Given the description of an element on the screen output the (x, y) to click on. 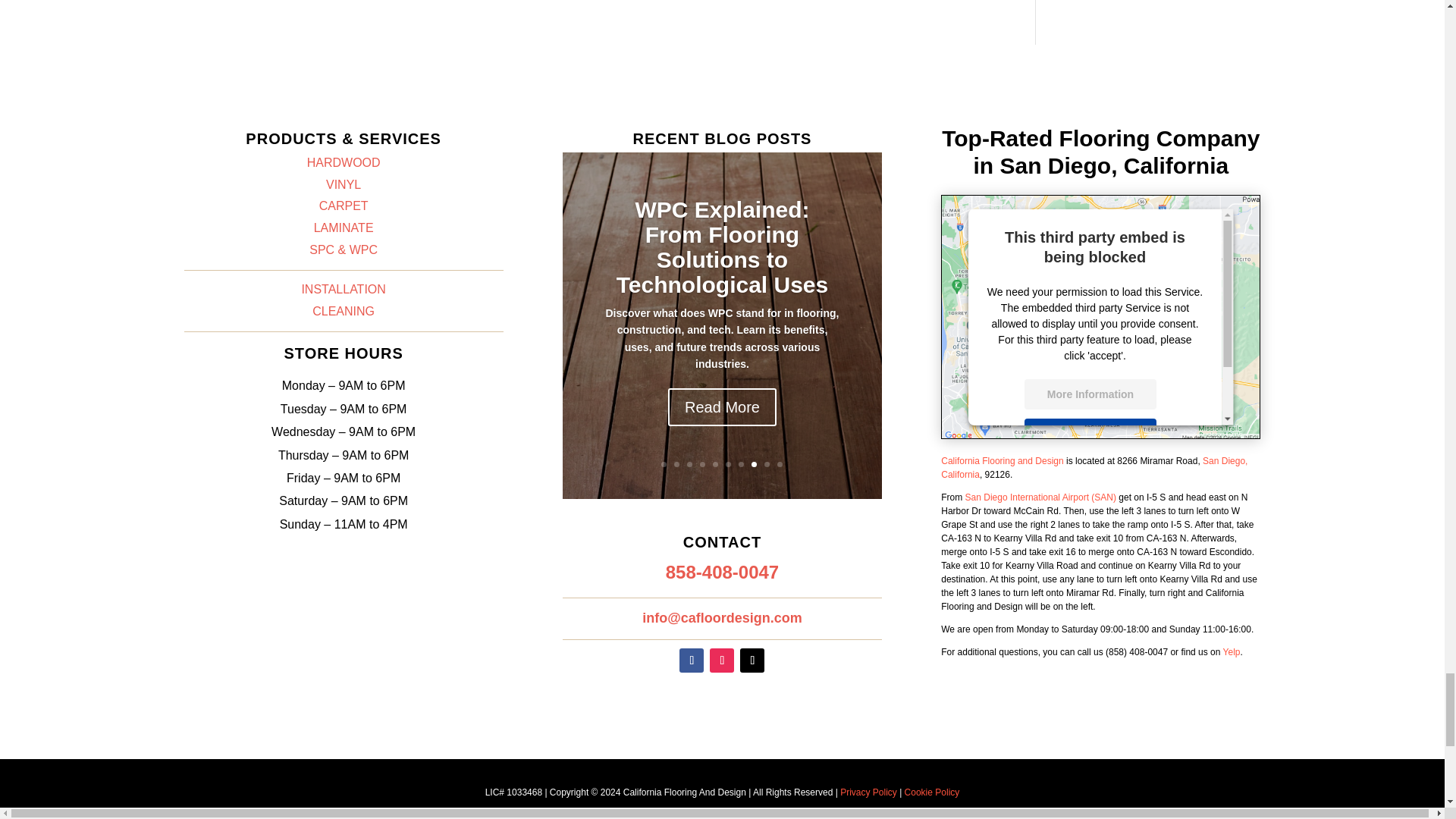
Follow on X (751, 660)
Follow on Facebook (691, 660)
Follow on Instagram (721, 660)
